Given the description of an element on the screen output the (x, y) to click on. 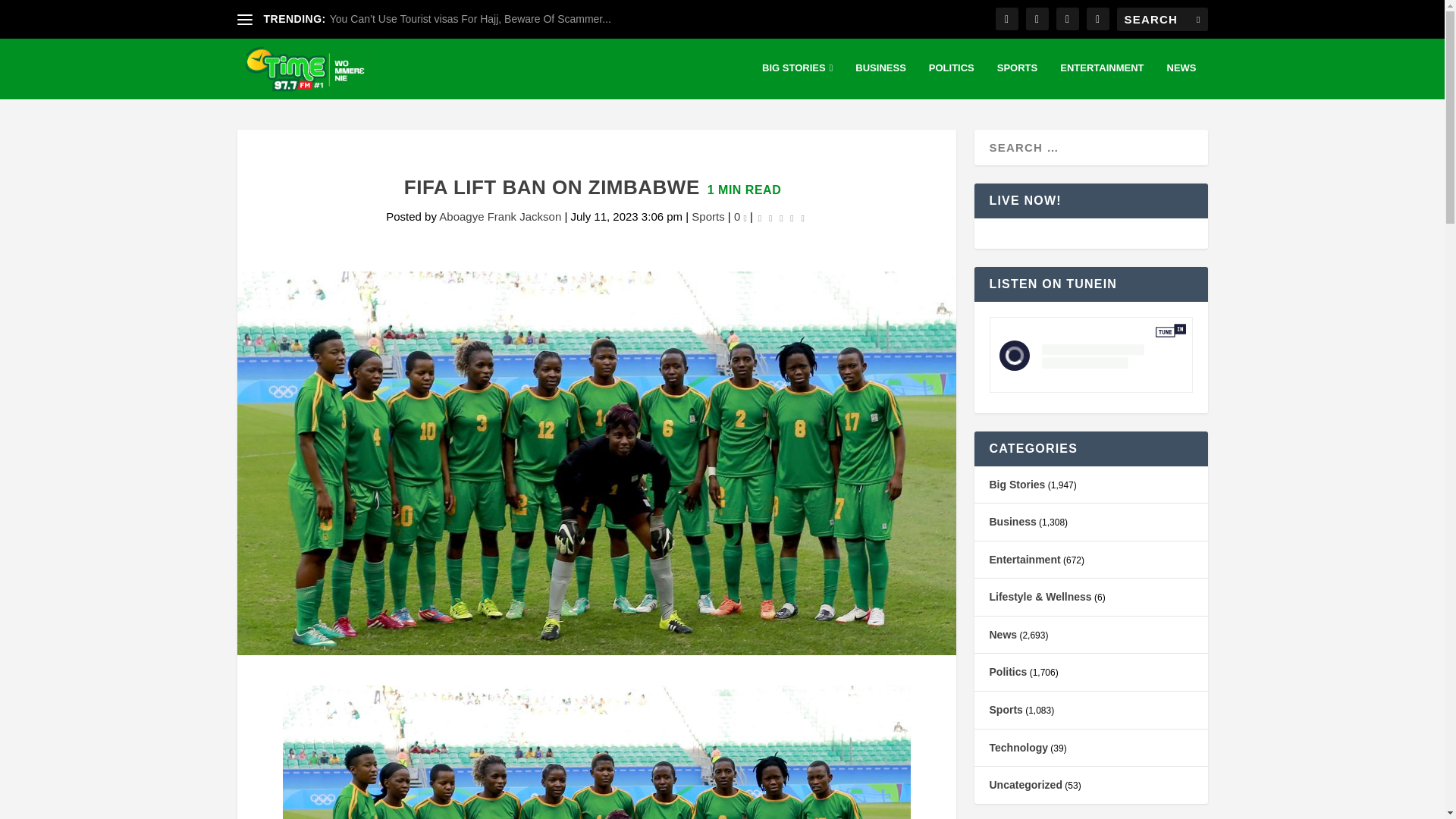
Aboagye Frank Jackson (499, 215)
Sports (707, 215)
ENTERTAINMENT (1100, 80)
BUSINESS (880, 80)
Search for: (1161, 19)
BIG STORIES (796, 80)
POLITICS (951, 80)
SPORTS (1016, 80)
0 (739, 215)
